Given the description of an element on the screen output the (x, y) to click on. 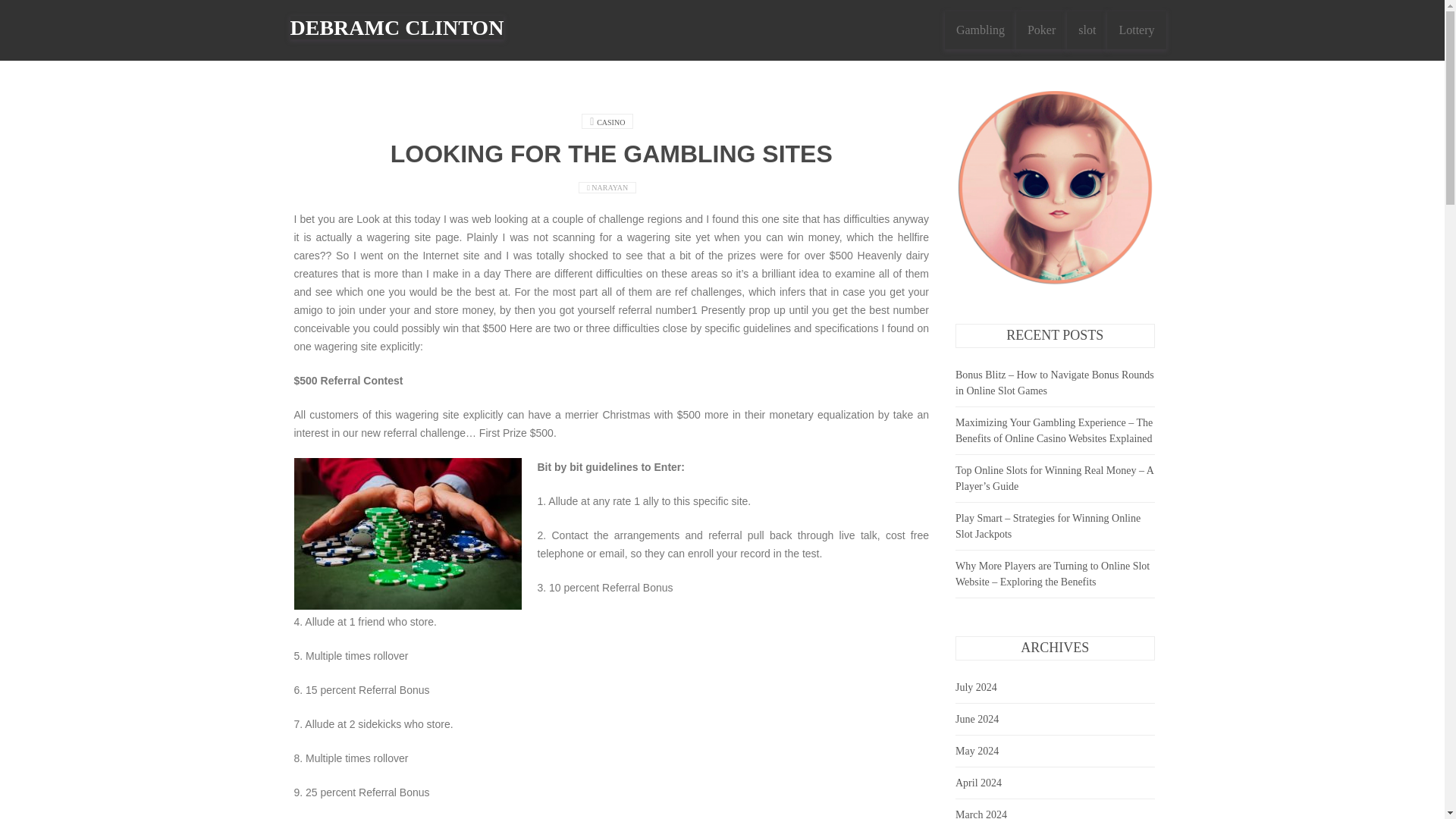
Lottery (1136, 30)
slot (1086, 30)
Gambling (980, 30)
Gambling (980, 30)
June 2024 (976, 718)
CASINO (610, 121)
NARAYAN (610, 187)
April 2024 (978, 782)
Lottery (1136, 30)
March 2024 (981, 814)
Poker (1041, 30)
May 2024 (976, 750)
slot (1086, 30)
Poker (1041, 30)
July 2024 (976, 686)
